Given the description of an element on the screen output the (x, y) to click on. 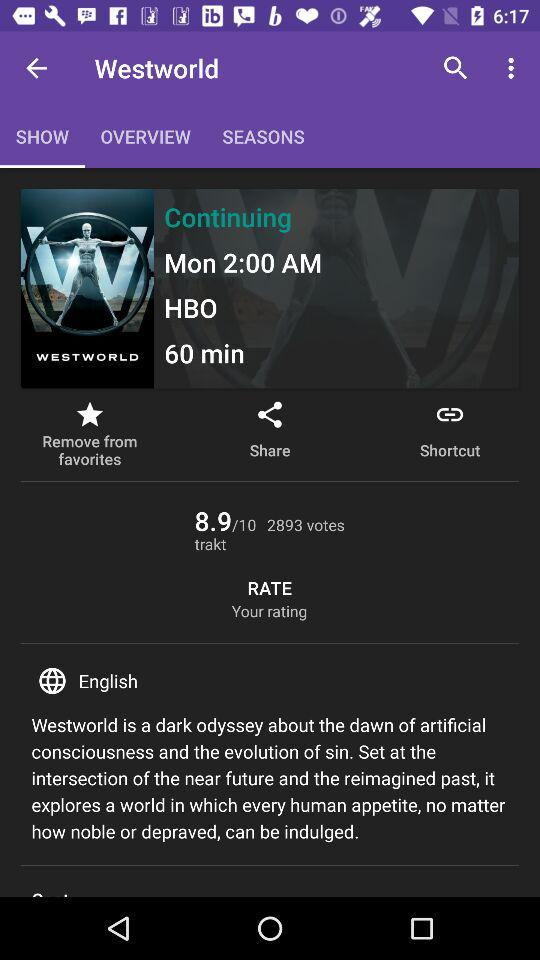
turn off the item to the right of the remove from favorites item (270, 434)
